Given the description of an element on the screen output the (x, y) to click on. 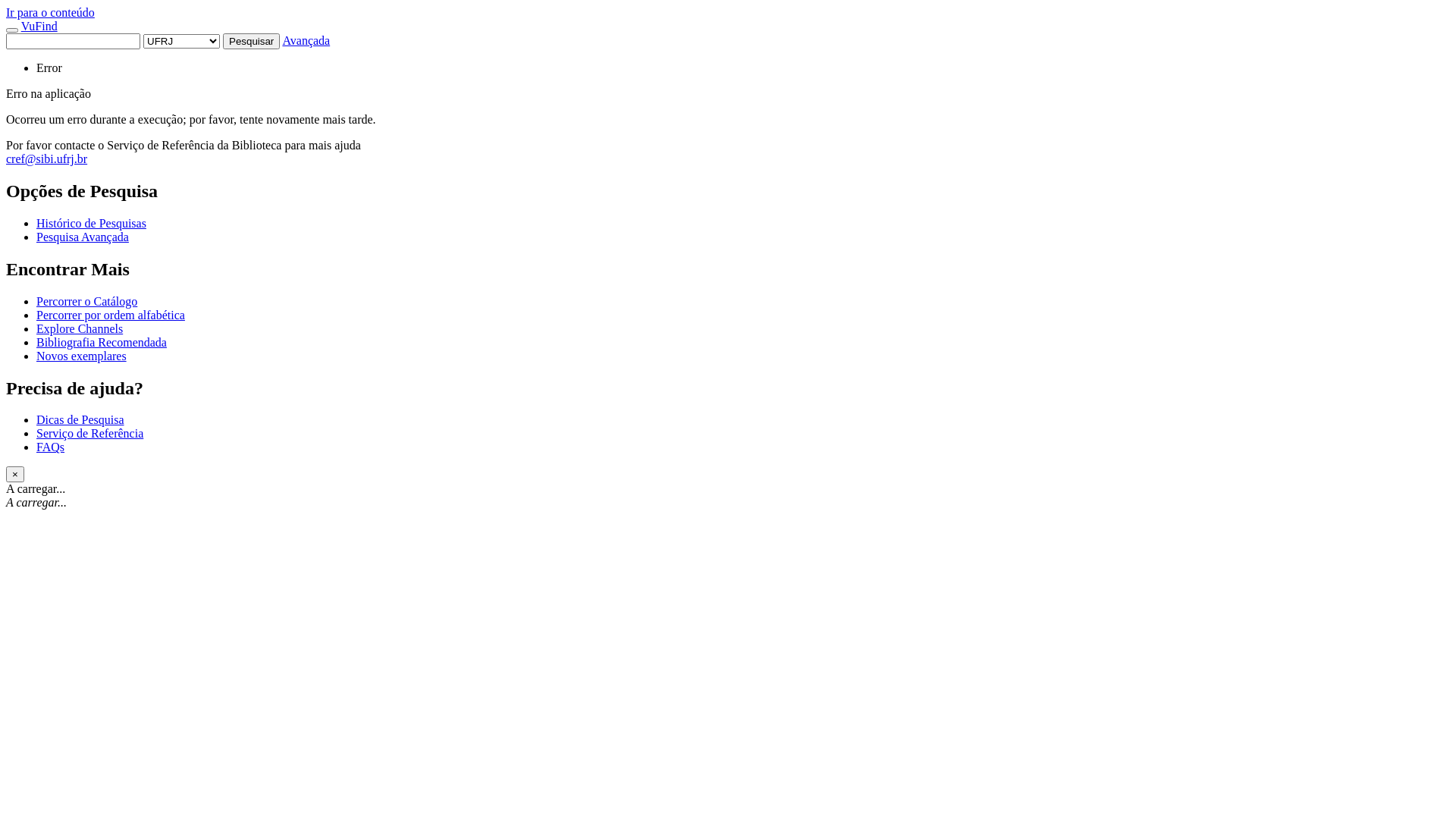
Pesquisar Element type: text (250, 41)
FAQs Element type: text (50, 446)
Novos exemplares Element type: text (81, 355)
Dicas de Pesquisa Element type: text (80, 419)
Bibliografia Recomendada Element type: text (101, 341)
Explore Channels Element type: text (79, 328)
cref@sibi.ufrj.br Element type: text (46, 158)
VuFind Element type: text (39, 25)
